Given the description of an element on the screen output the (x, y) to click on. 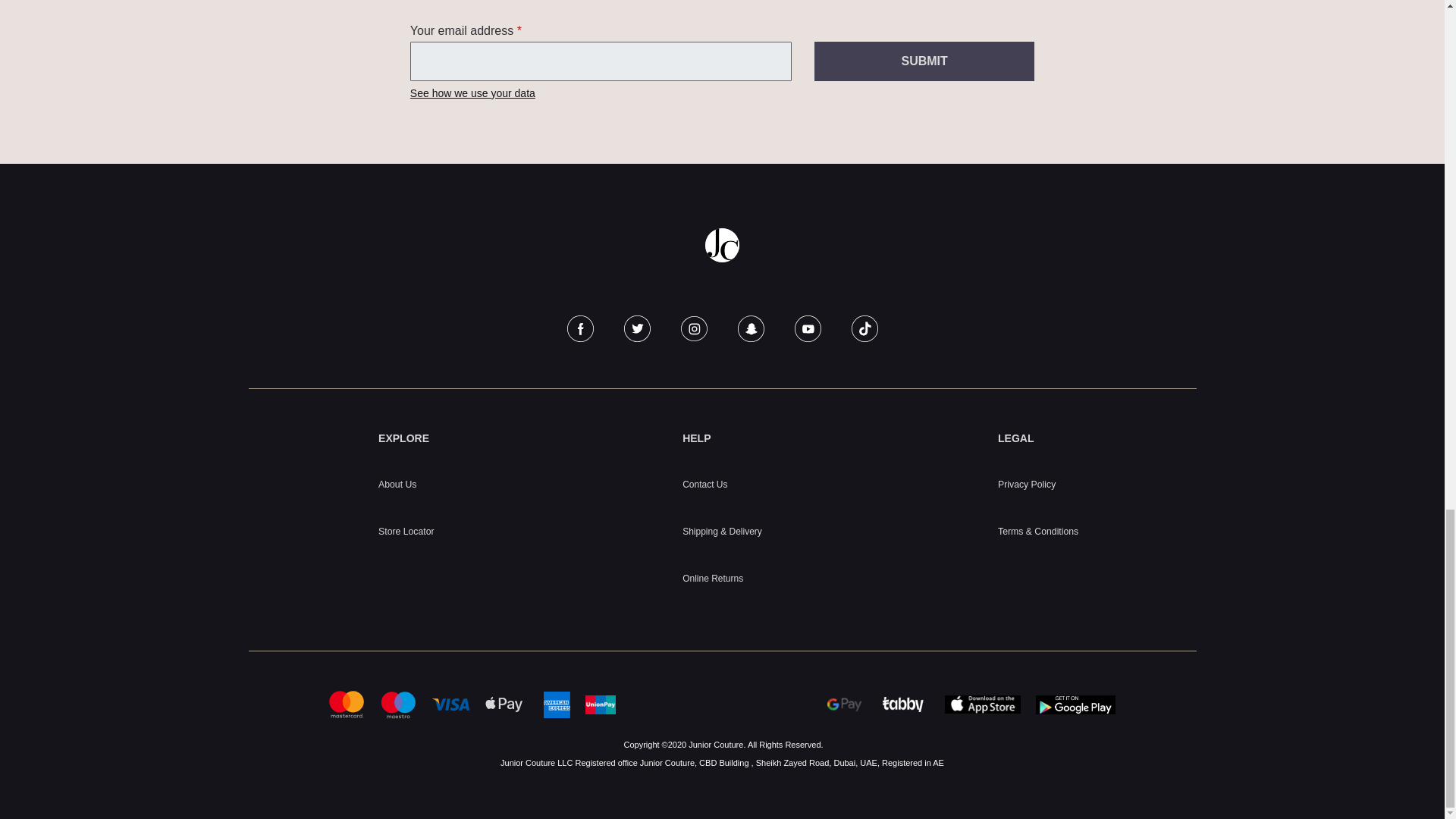
Go to Store Locator (405, 531)
Go to Contact Us (704, 484)
Go to About Us (397, 484)
Juniour Couture Home (721, 245)
